Given the description of an element on the screen output the (x, y) to click on. 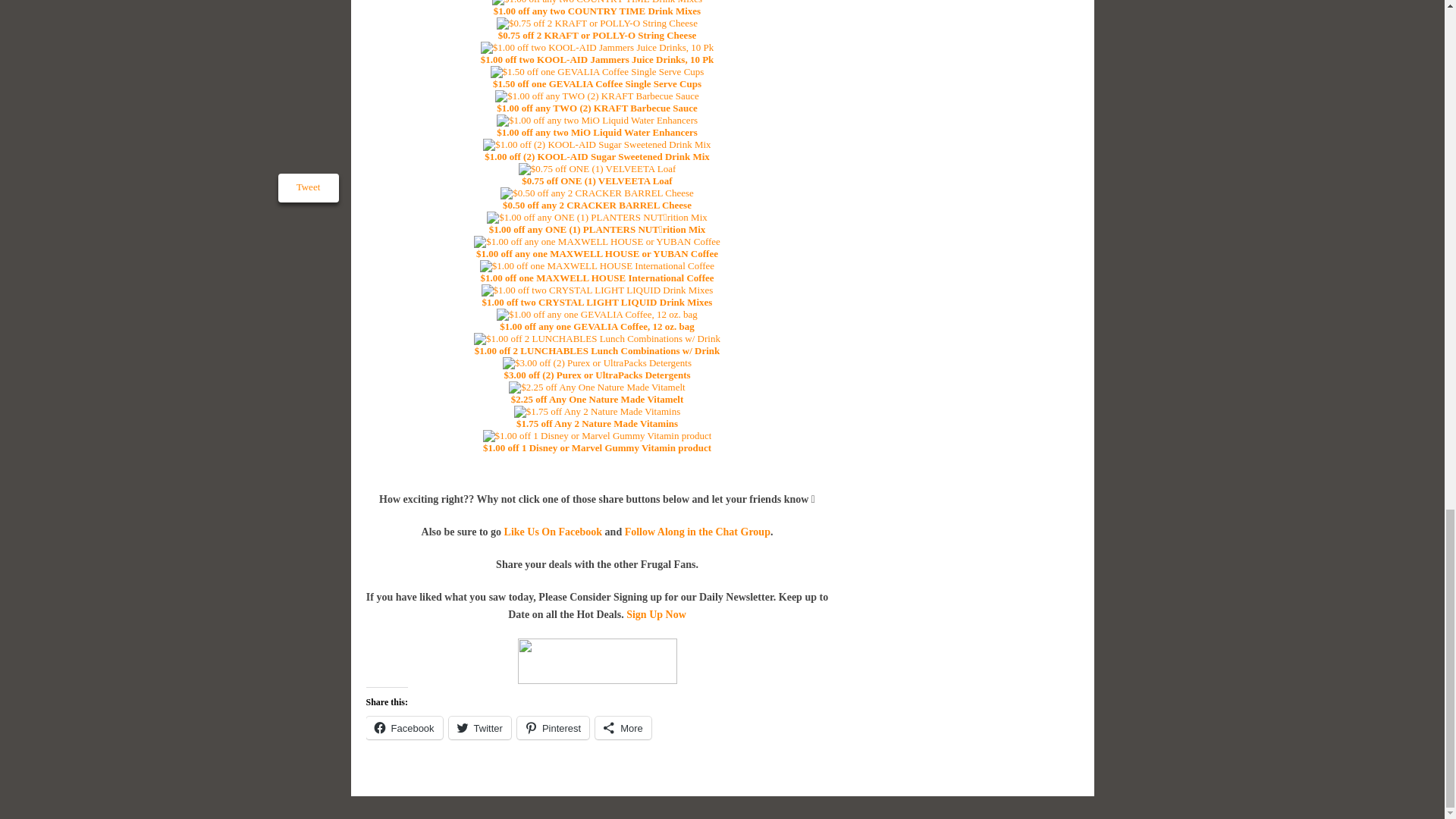
Click to share on Pinterest (552, 727)
Click to share on Twitter (479, 727)
Click to share on Facebook (403, 727)
